Given the description of an element on the screen output the (x, y) to click on. 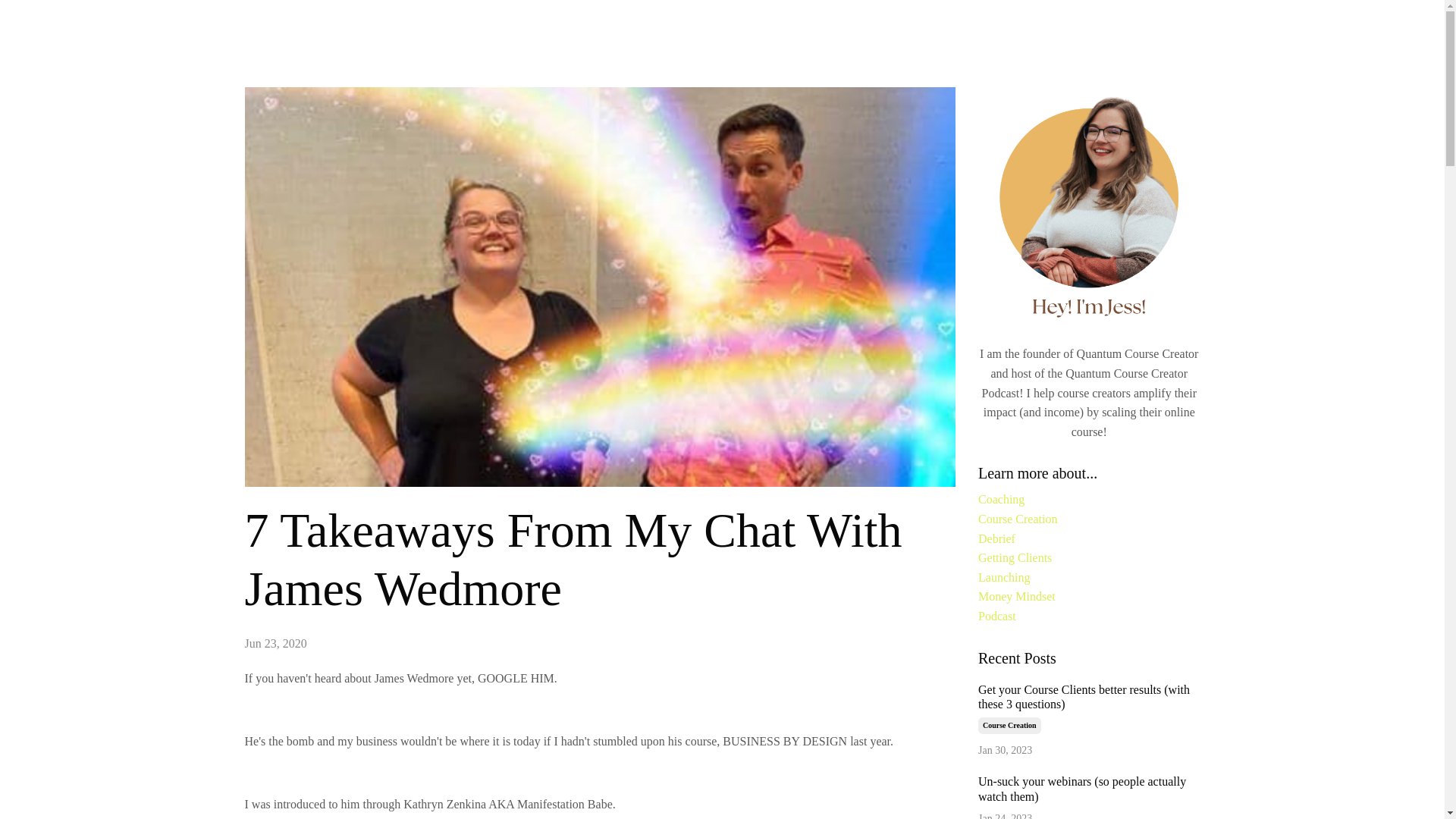
Podcast (1088, 616)
Launching (1088, 578)
Money Mindset (1088, 596)
Course Creation (1009, 725)
Course Creation (1088, 519)
Debrief (1088, 538)
Coaching (1088, 499)
Getting Clients (1088, 557)
